Given the description of an element on the screen output the (x, y) to click on. 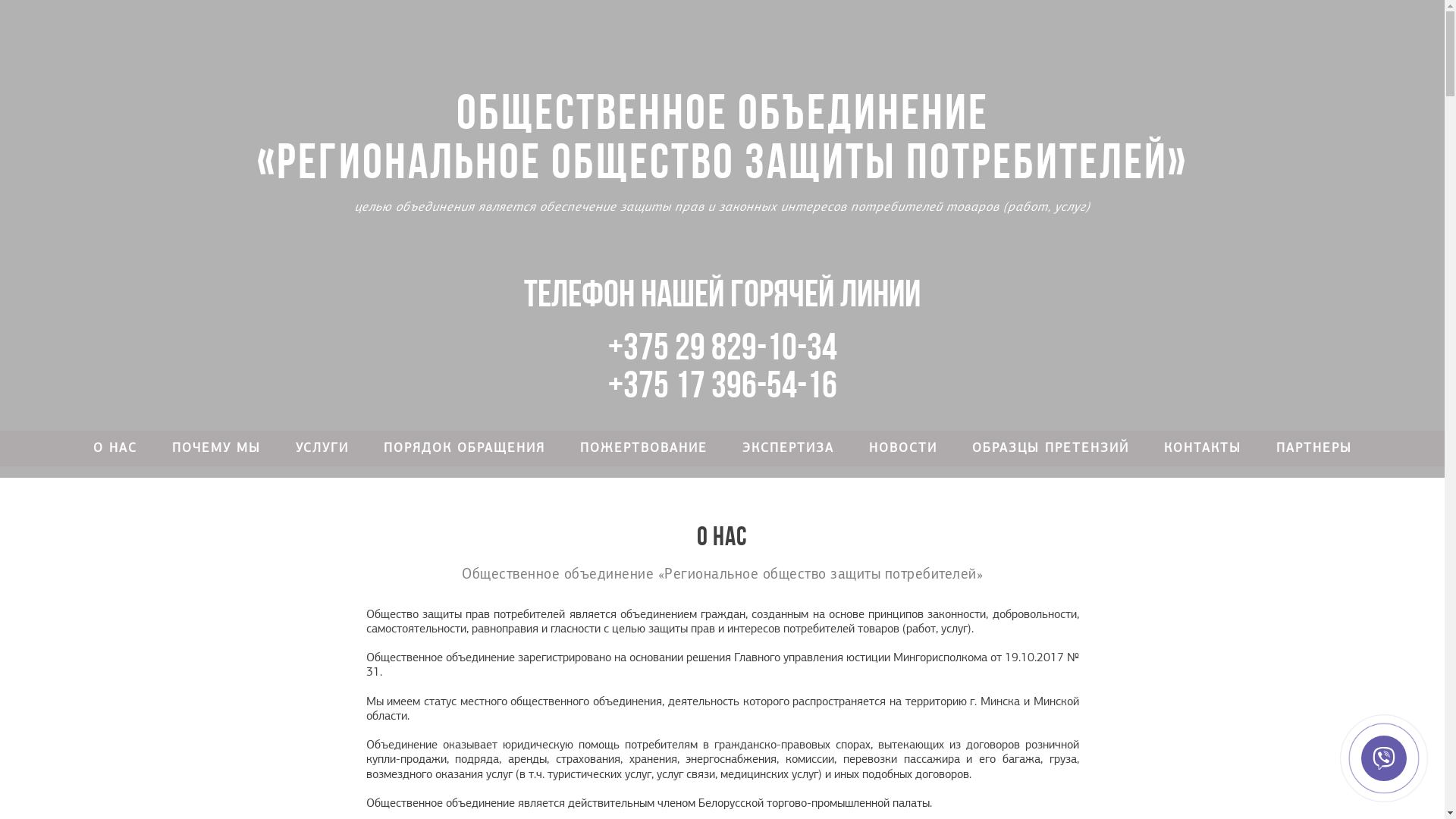
+375 17 396-54-16 Element type: text (722, 383)
+375 29 829-10-34 Element type: text (722, 346)
